Given the description of an element on the screen output the (x, y) to click on. 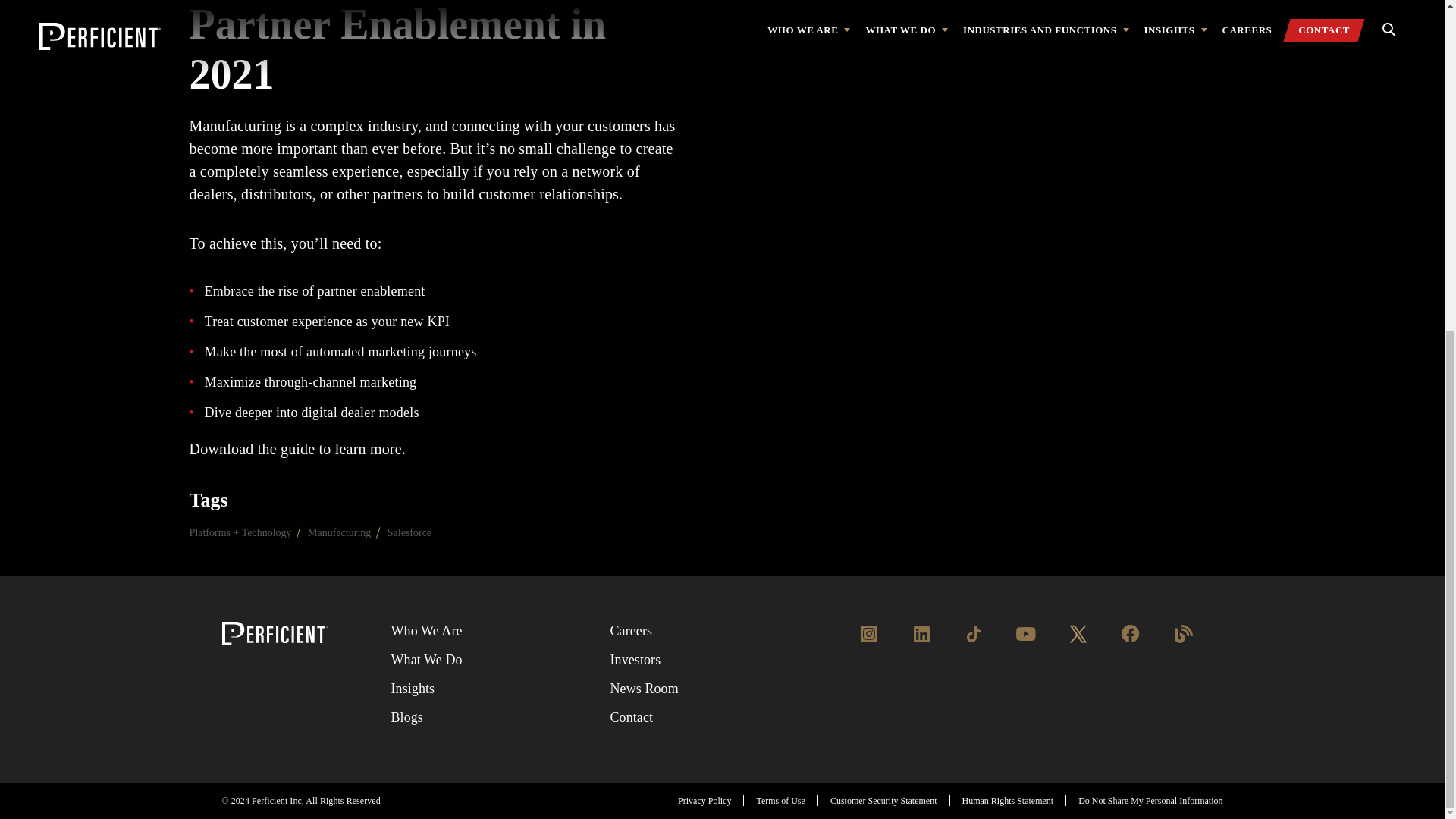
Perficient LinkedIn (920, 641)
Do Not Share My Personal Information (1150, 800)
Who We Are (425, 630)
Blogs (406, 717)
Perficient Facebook (1129, 641)
Human Rights Statement (1008, 800)
Perficient Instagram (868, 641)
Perficient's YouTube Channel (1024, 641)
Perficient TikTok (972, 641)
Perficient Twitter (1077, 641)
